Given the description of an element on the screen output the (x, y) to click on. 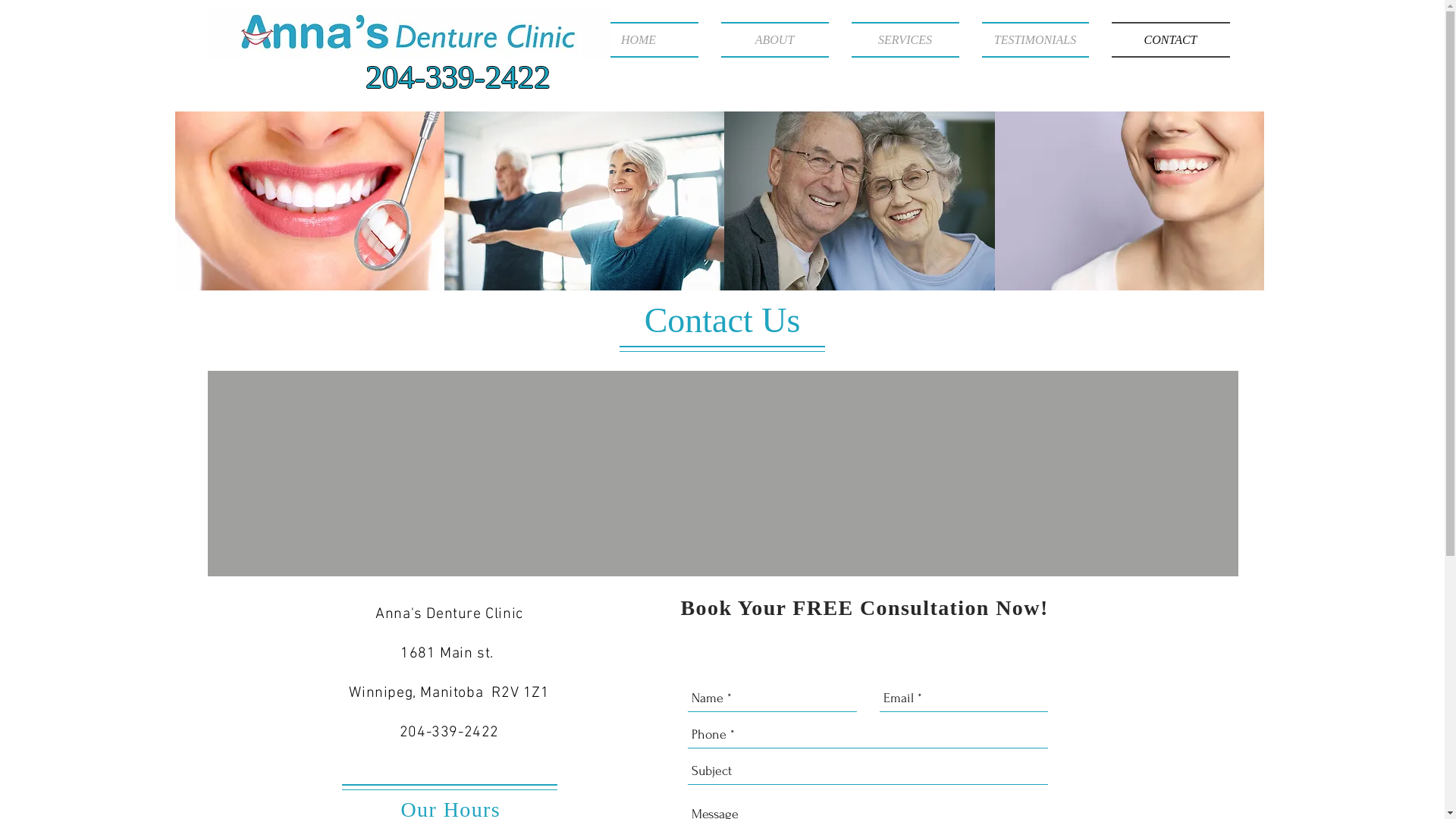
CONTACT Element type: text (1164, 39)
204-339-2422 Element type: text (457, 76)
SERVICES Element type: text (905, 39)
ABOUT Element type: text (774, 39)
Google Maps Element type: hover (721, 473)
TESTIMONIALS Element type: text (1035, 39)
HOME Element type: text (644, 39)
